Given the description of an element on the screen output the (x, y) to click on. 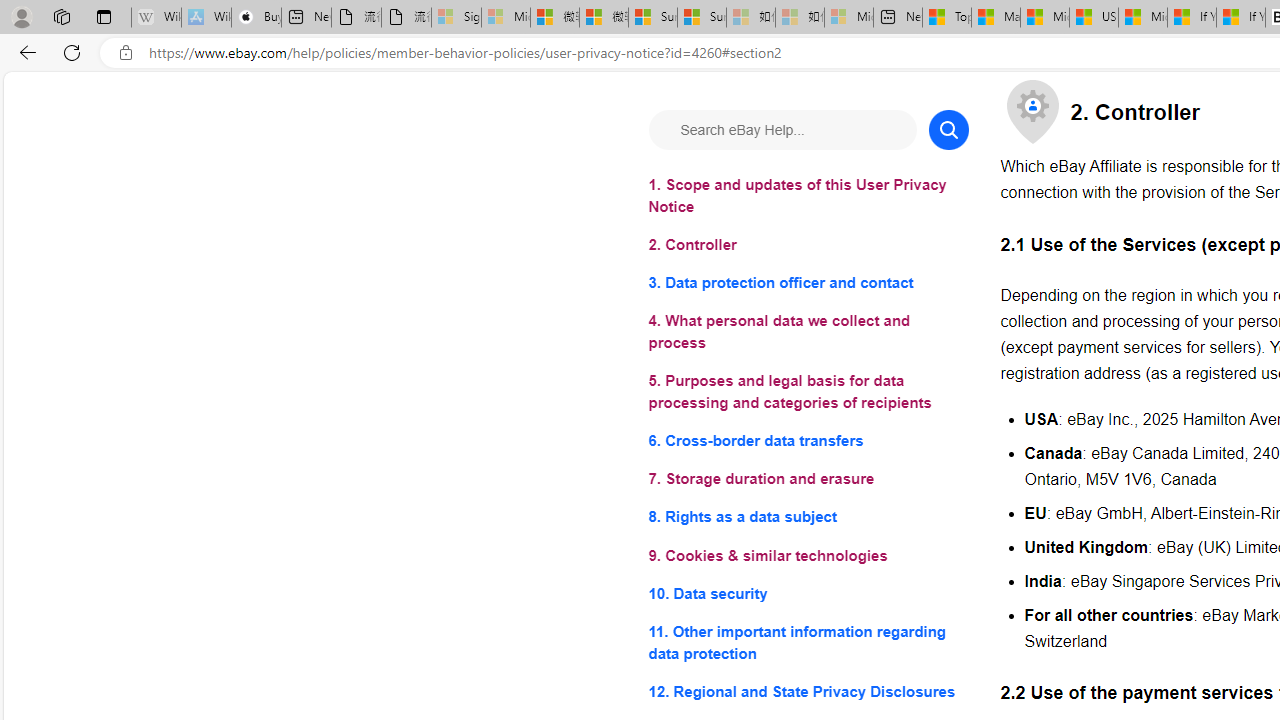
12. Regional and State Privacy Disclosures (807, 690)
1. Scope and updates of this User Privacy Notice (807, 196)
11. Other important information regarding data protection (807, 642)
7. Storage duration and erasure (807, 479)
7. Storage duration and erasure (807, 479)
3. Data protection officer and contact (807, 283)
4. What personal data we collect and process (807, 332)
Microsoft Services Agreement - Sleeping (505, 17)
